Given the description of an element on the screen output the (x, y) to click on. 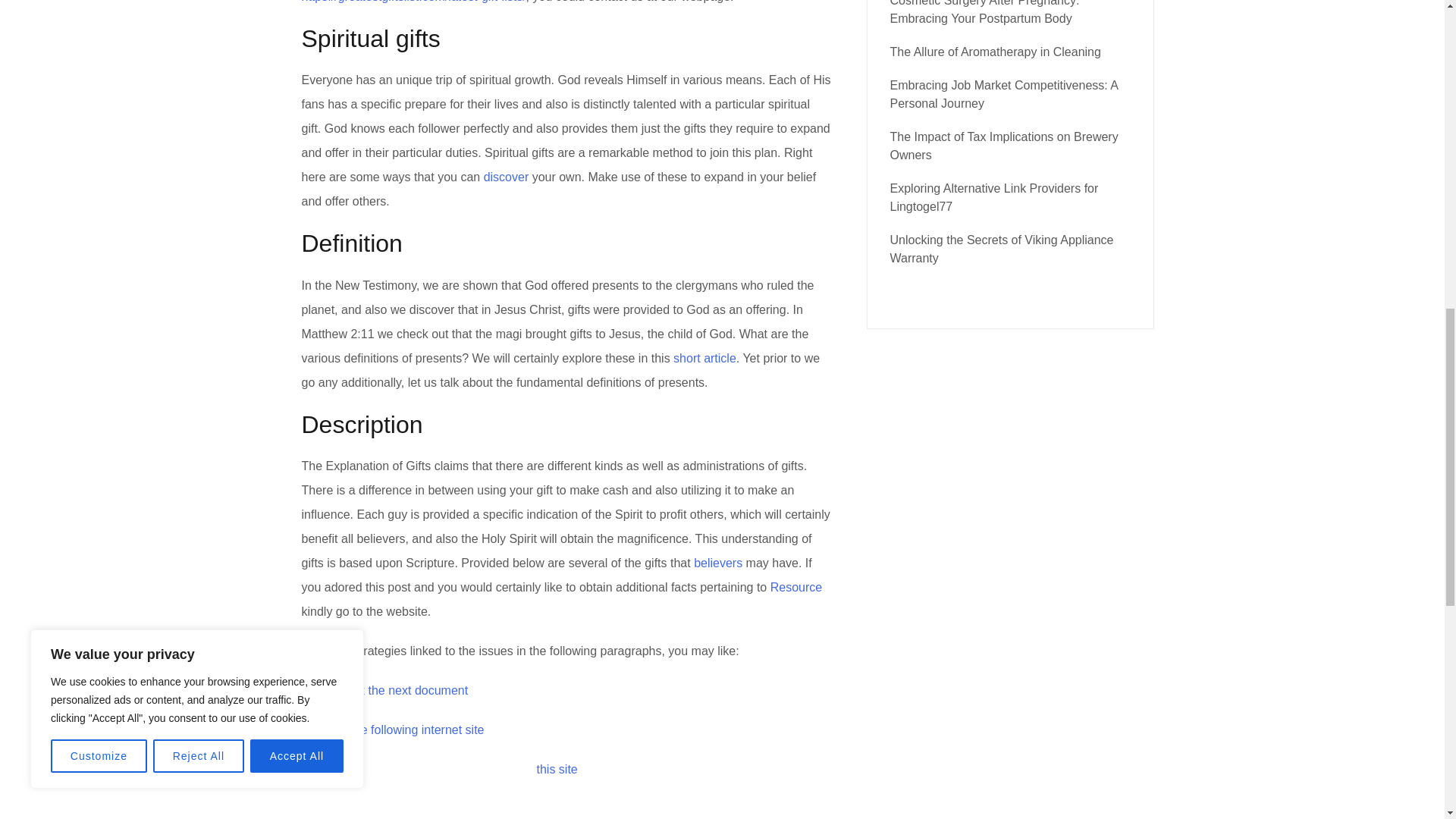
Resource (796, 586)
discover (506, 176)
short article (704, 358)
believers (718, 562)
this site (557, 768)
just click the following internet site (392, 729)
Simply click the next document (384, 689)
